Given the description of an element on the screen output the (x, y) to click on. 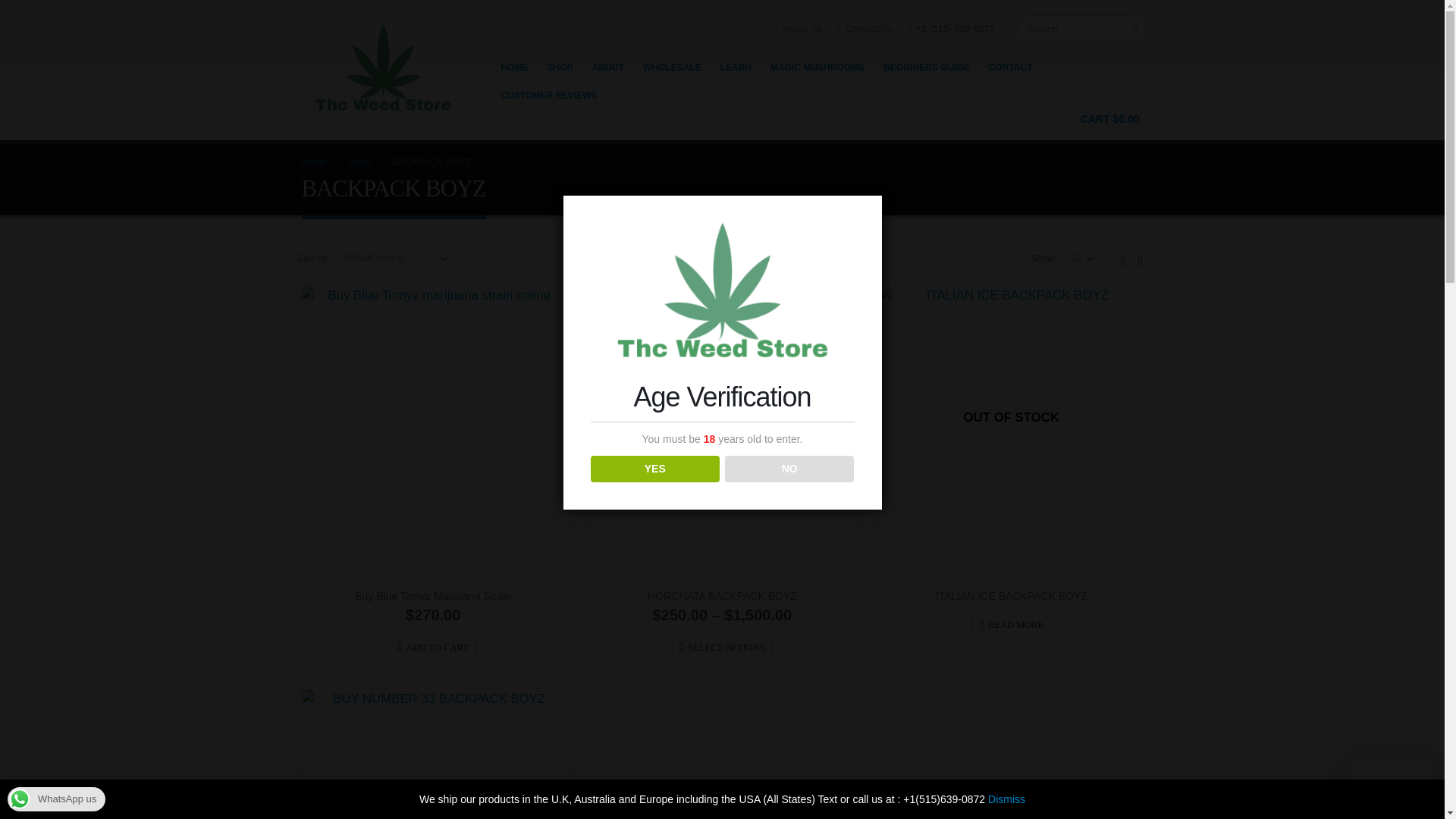
ADD TO CART (433, 646)
BEGGINERS GUIDE (926, 67)
CUSTOMER REVIEWS (548, 94)
Go to Home Page (314, 162)
Buy Blue Tomyz Marijuana Strain (432, 595)
Shop (358, 162)
SELECT OPTIONS (722, 646)
SHOP (558, 67)
MAGIC MUSHROOMS (817, 67)
ITALIAN ICE BACKPACK BOYZ (1011, 595)
LEARN (735, 67)
OUT OF STOCK (1010, 417)
Contact Us (864, 28)
SALE (722, 417)
About Us (798, 28)
